Given the description of an element on the screen output the (x, y) to click on. 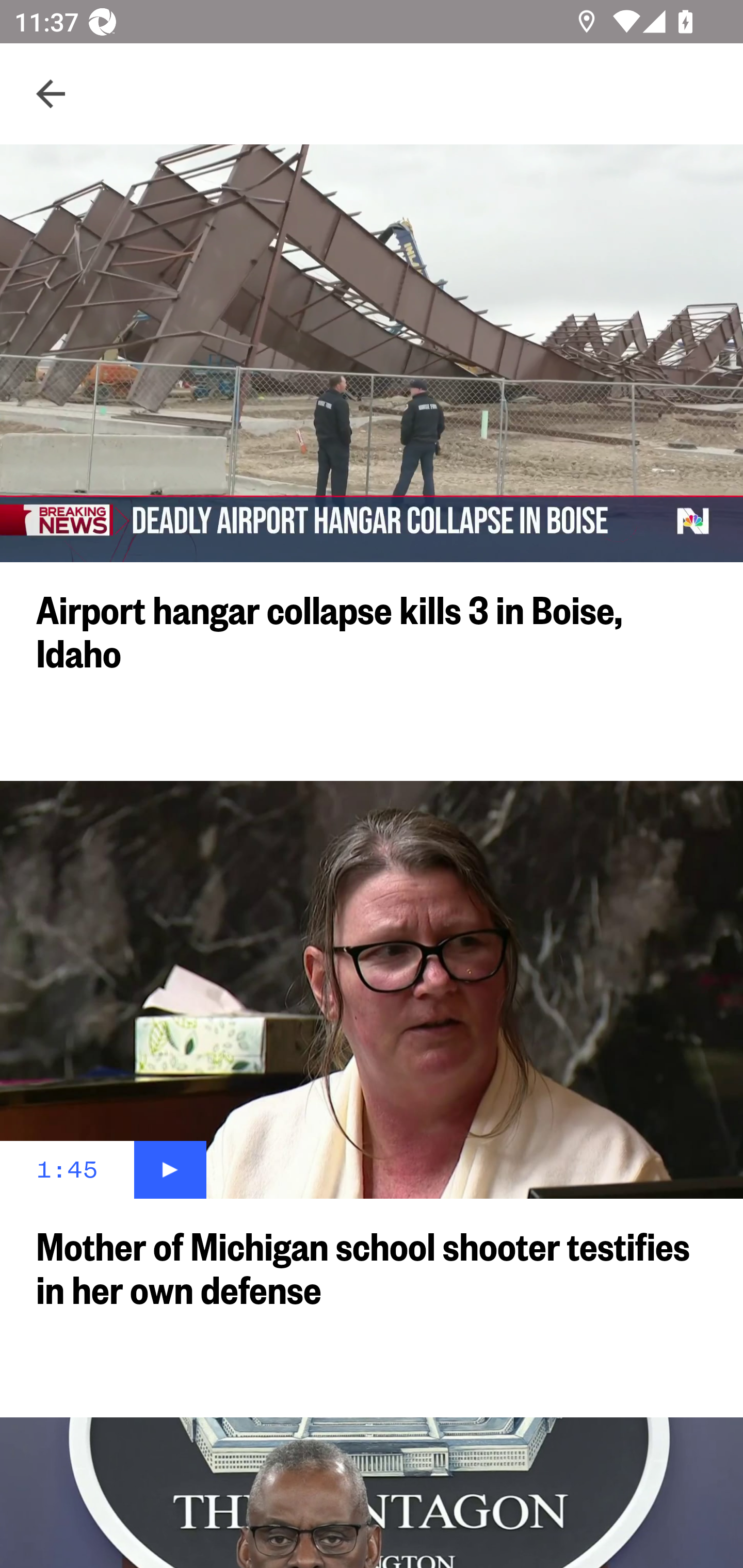
Navigate up (50, 93)
